Given the description of an element on the screen output the (x, y) to click on. 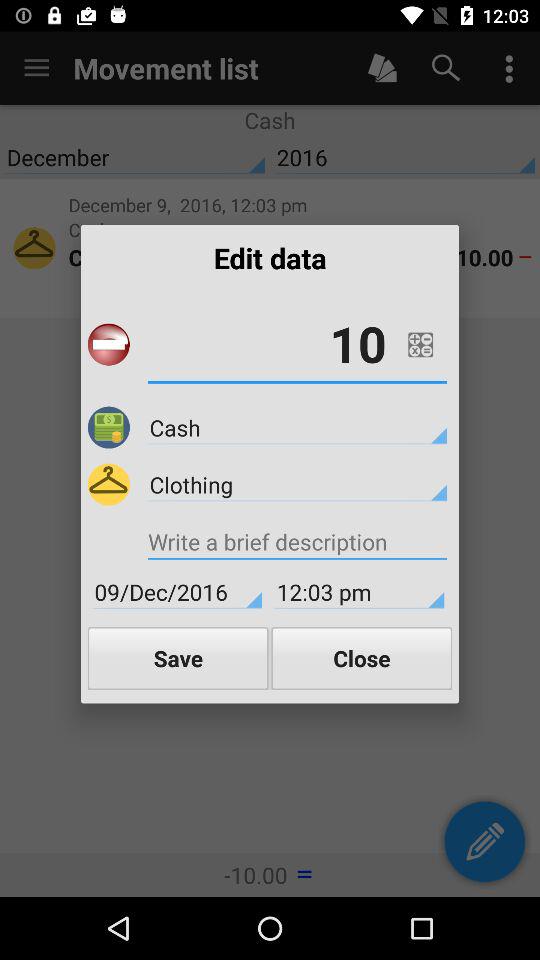
flip to 10 icon (297, 344)
